Given the description of an element on the screen output the (x, y) to click on. 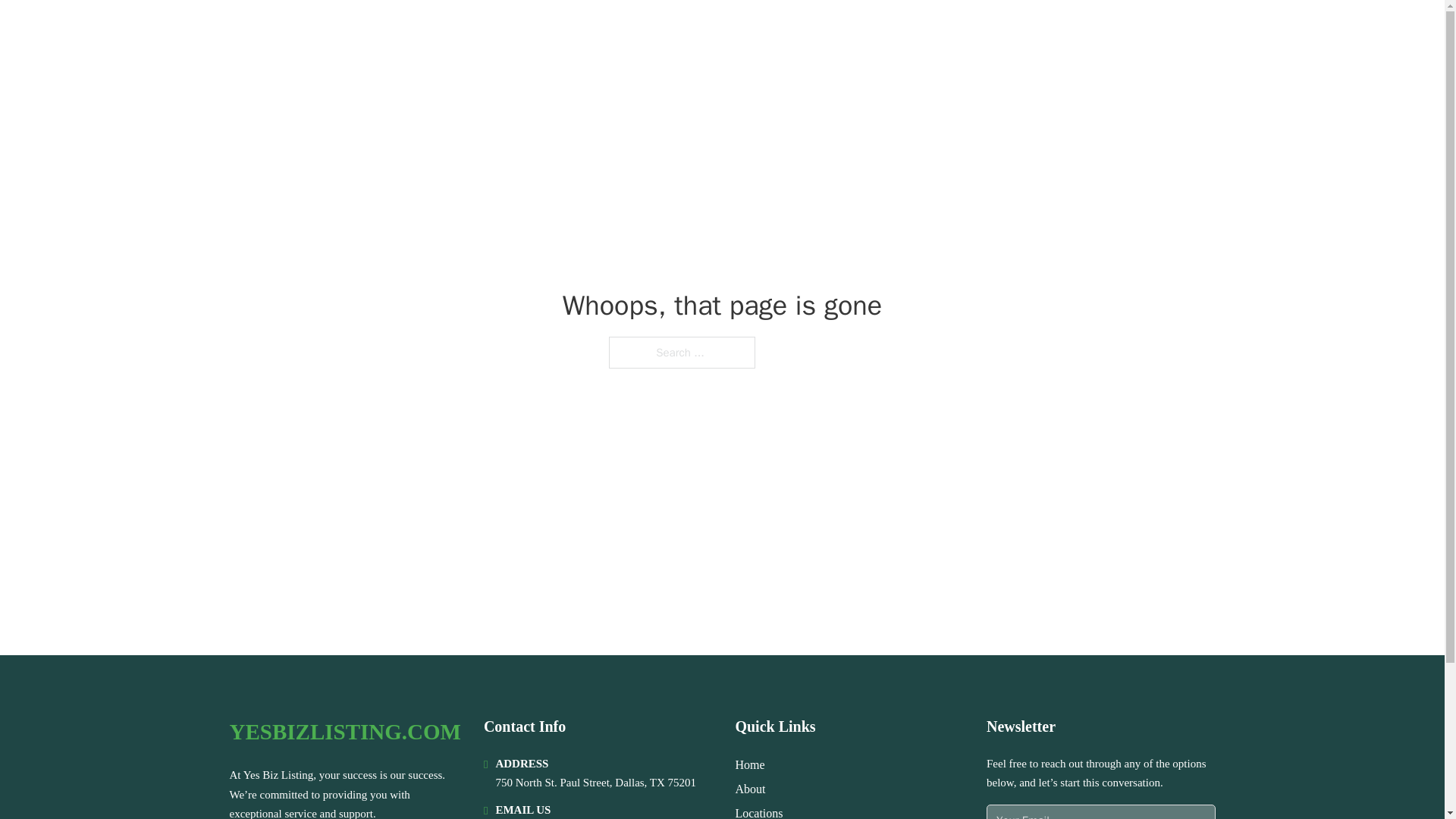
HOME (1025, 31)
LOCATIONS (1098, 31)
Locations (759, 811)
YESBIZLISTING.COM (344, 732)
Home (749, 764)
YESBIZLISTING.COM (356, 31)
About (750, 788)
